Given the description of an element on the screen output the (x, y) to click on. 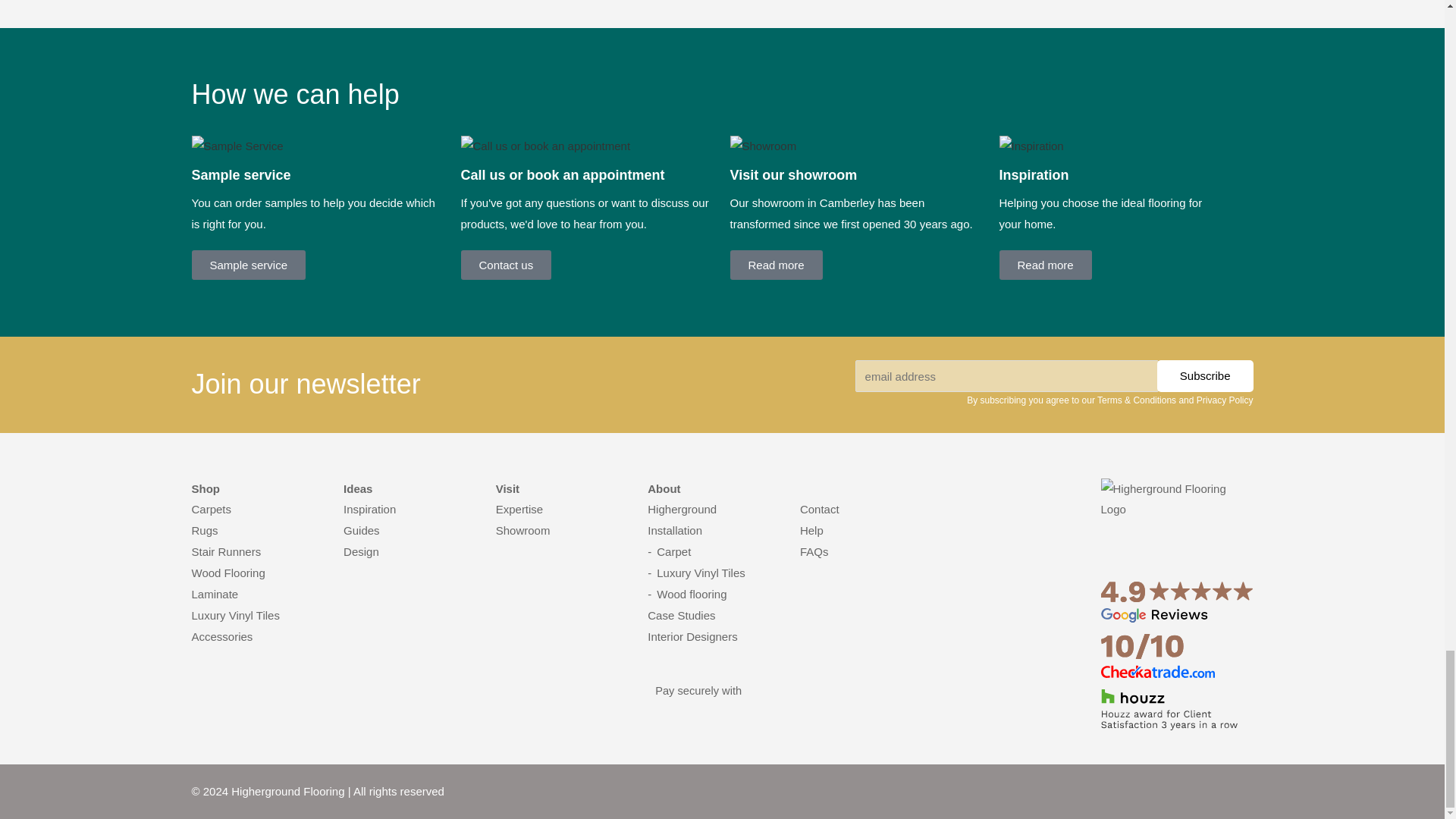
Subscribe (1205, 376)
